Given the description of an element on the screen output the (x, y) to click on. 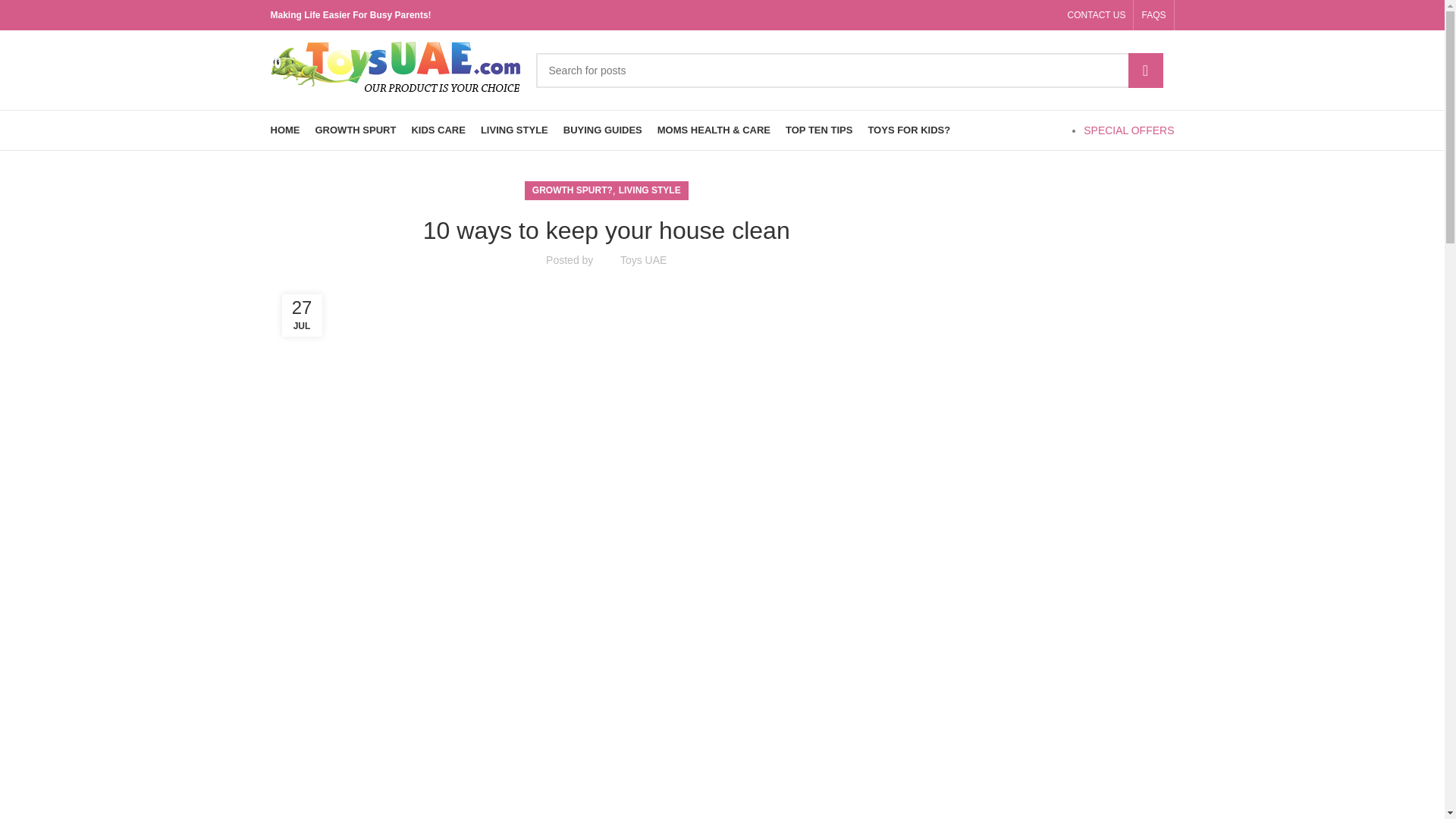
Search for posts (848, 70)
TOYS FOR KIDS? (908, 130)
SPECIAL OFFERS (1128, 130)
TOP TEN TIPS (818, 130)
HOME (284, 130)
Toys UAE (643, 259)
BUYING GUIDES (602, 130)
GROWTH SPURT (355, 130)
KIDS CARE (437, 130)
LIVING STYLE (514, 130)
